Given the description of an element on the screen output the (x, y) to click on. 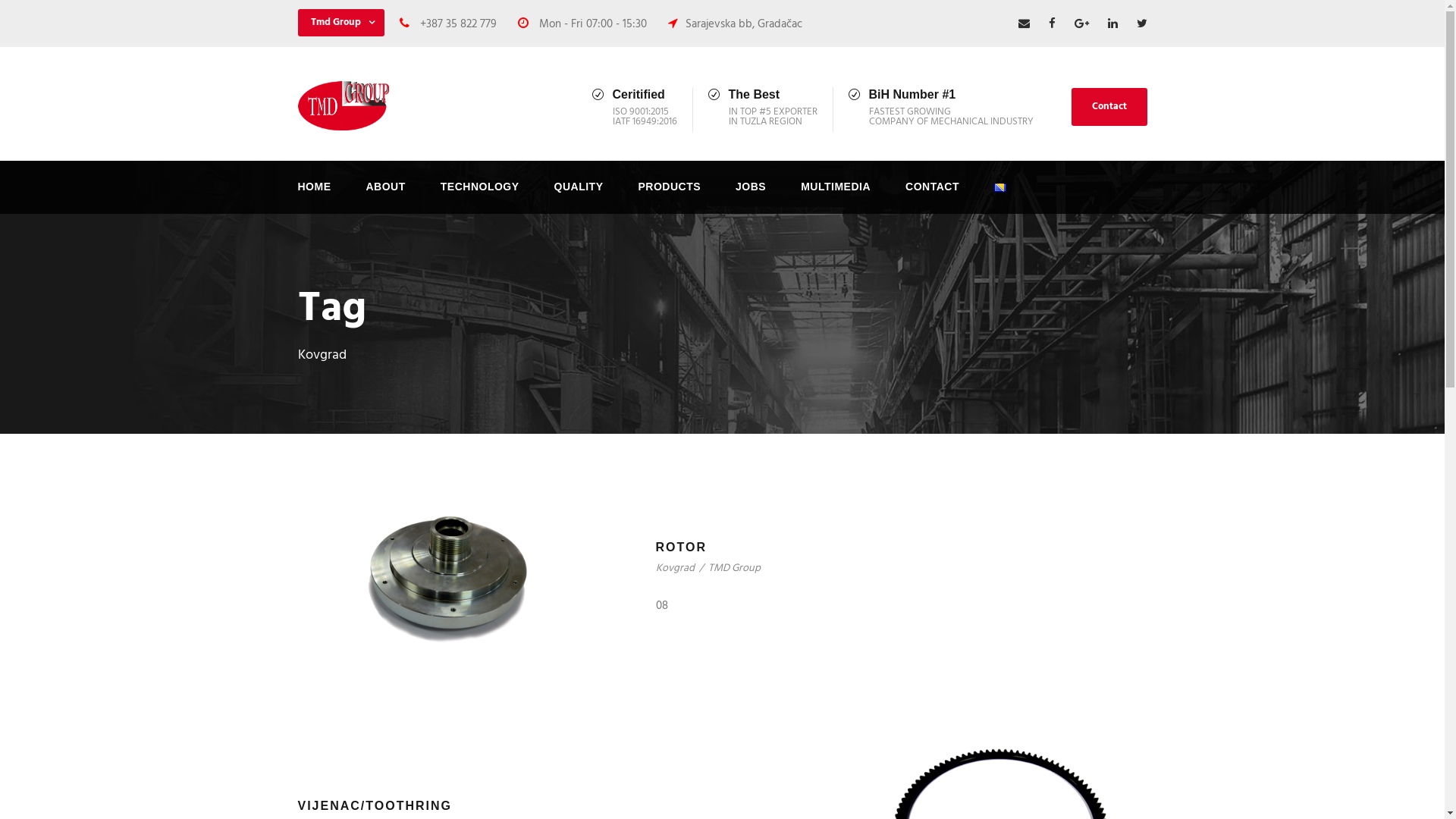
QUALITY Element type: text (578, 195)
twitter Element type: hover (1140, 24)
HOME Element type: text (313, 195)
google-plus Element type: hover (1080, 24)
Contact Element type: text (1108, 106)
MULTIMEDIA Element type: text (835, 195)
PRODUCTS Element type: text (669, 195)
TECHNOLOGY Element type: text (479, 195)
Kovgrad Element type: text (674, 568)
linkedin Element type: hover (1112, 24)
facebook Element type: hover (1051, 24)
email Element type: hover (1023, 24)
VIJENAC/TOOTHRING Element type: text (374, 805)
CONTACT Element type: text (932, 195)
ABOUT Element type: text (384, 195)
TMD Group Element type: text (734, 568)
ROTOR Element type: text (680, 546)
product_08 Element type: hover (445, 578)
JOBS Element type: text (750, 195)
Bosanski Element type: hover (1000, 187)
